Given the description of an element on the screen output the (x, y) to click on. 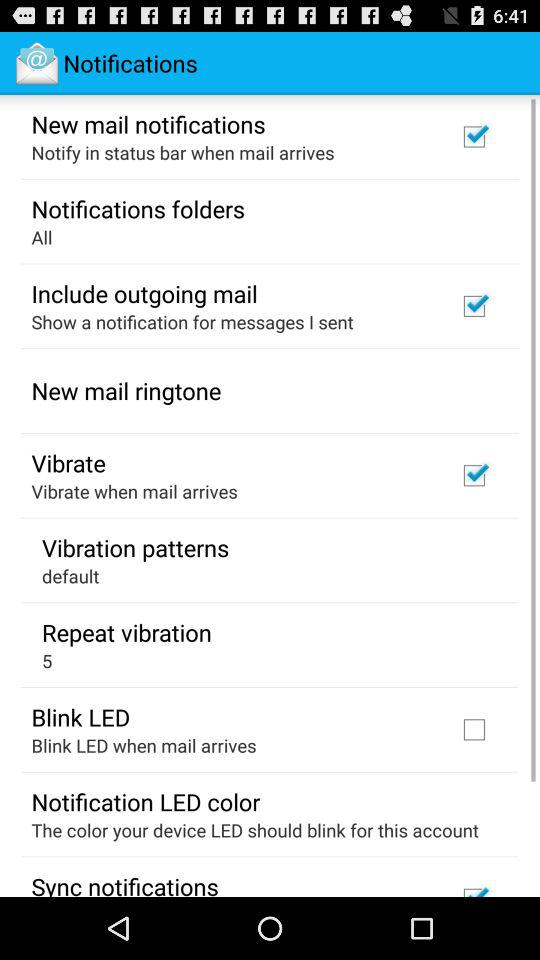
tap app below the notify in status icon (137, 208)
